Given the description of an element on the screen output the (x, y) to click on. 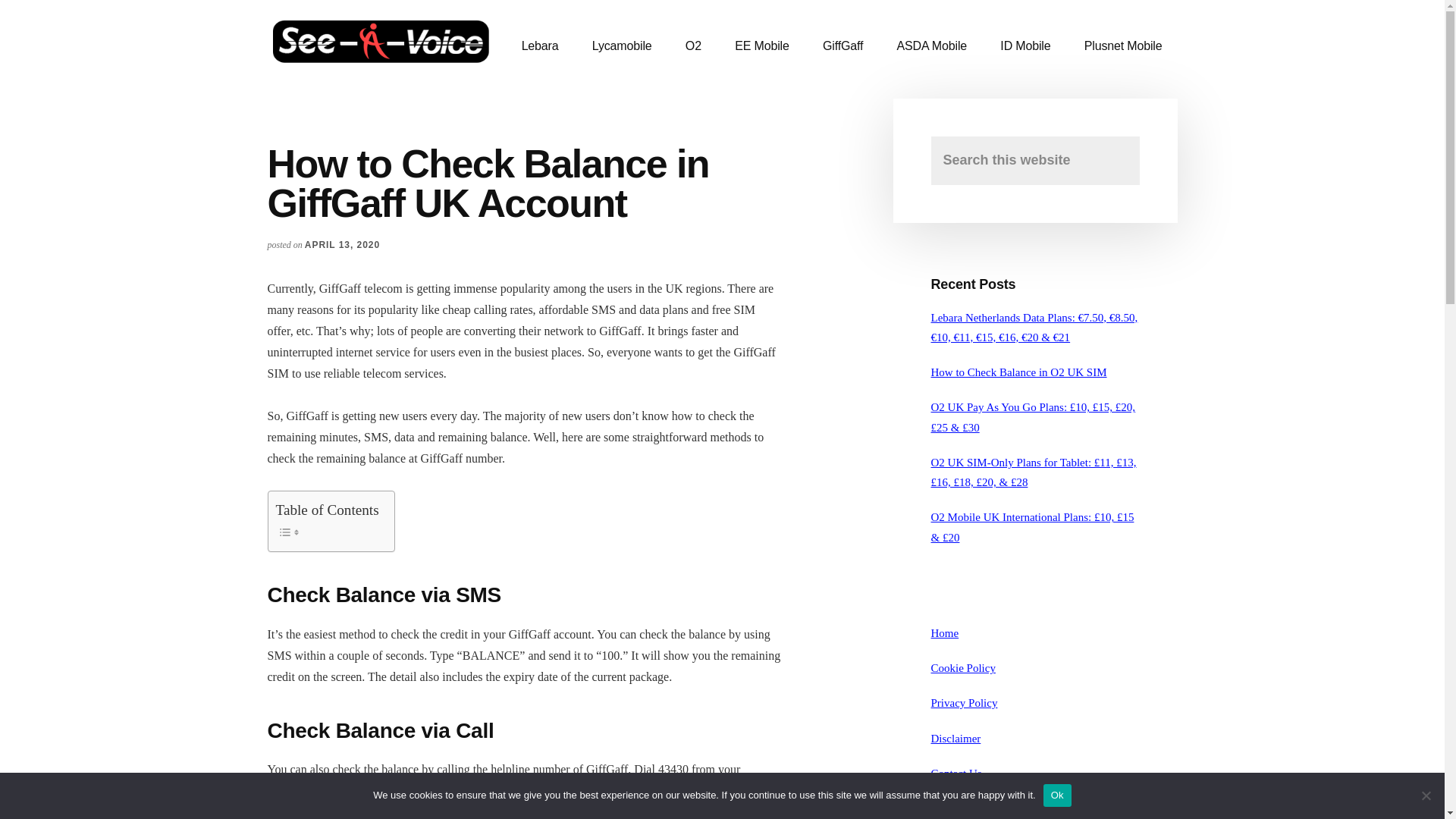
Lebara (539, 46)
See a Voice (380, 45)
No (1425, 795)
Lycamobile (621, 46)
EE Mobile (761, 46)
GiffGaff (842, 46)
ID Mobile (1025, 46)
ASDA Mobile (932, 46)
Plusnet Mobile (1122, 46)
O2 (692, 46)
